Given the description of an element on the screen output the (x, y) to click on. 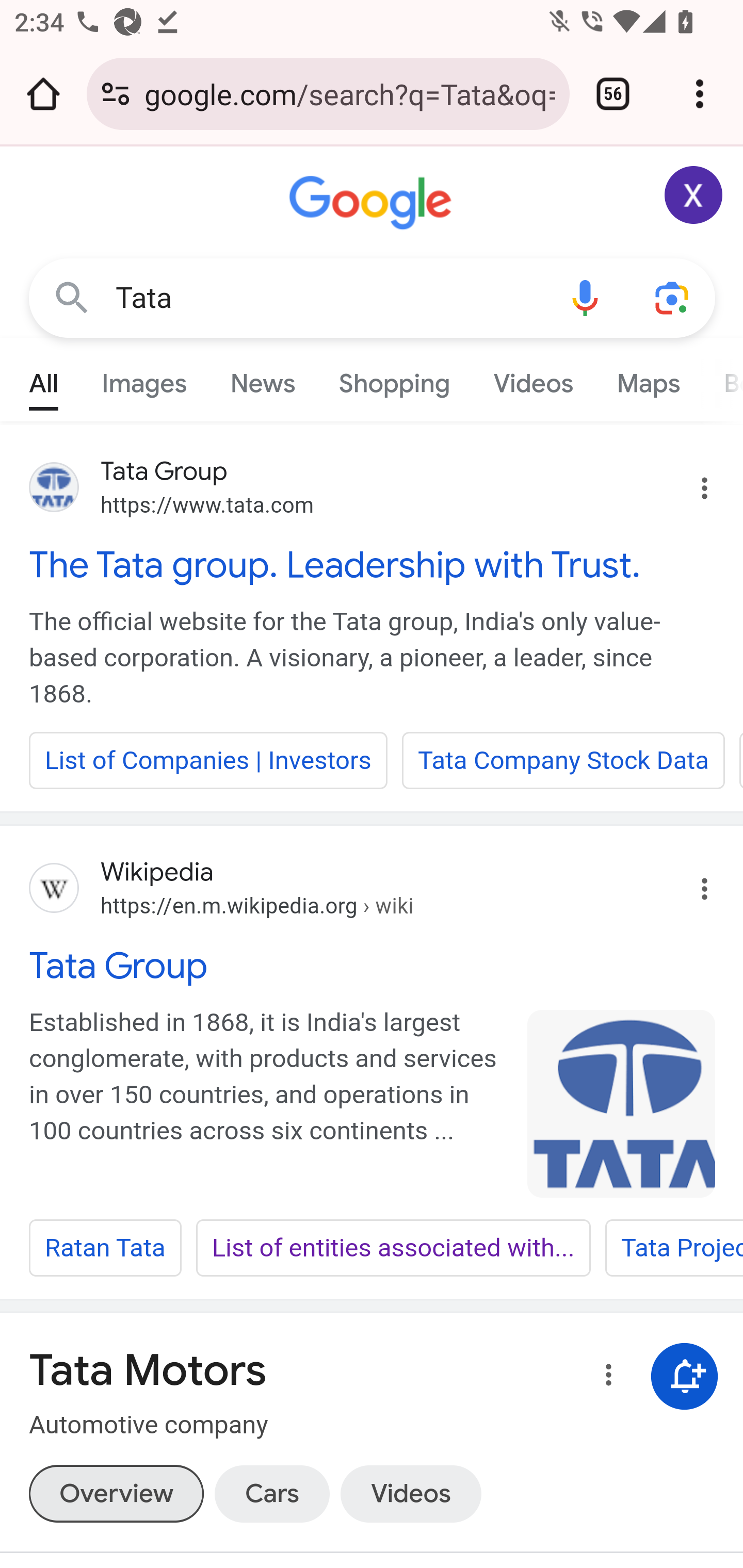
Open the home page (43, 93)
Connection is secure (115, 93)
Switch or close tabs (612, 93)
Customize and control Google Chrome (699, 93)
Google (372, 203)
Google Account: Xiaoran (zxrappiumtest@gmail.com) (694, 195)
Google Search (71, 296)
Search using your camera or photos (672, 296)
Tata (328, 297)
Images (144, 378)
News (262, 378)
Shopping (394, 378)
Videos (533, 378)
Maps (647, 378)
The Tata group. Leadership with Trust. (372, 564)
List of Companies | Investors (207, 760)
Tata Company Stock Data (563, 760)
Tata Group (372, 965)
Tata_Group (621, 1102)
Ratan Tata (105, 1247)
List of entities associated with... (393, 1247)
Tata Projects (673, 1247)
Get notifications about Tata Motors (684, 1376)
More options (605, 1378)
Overview (116, 1493)
Cars (271, 1493)
Videos (410, 1493)
